Given the description of an element on the screen output the (x, y) to click on. 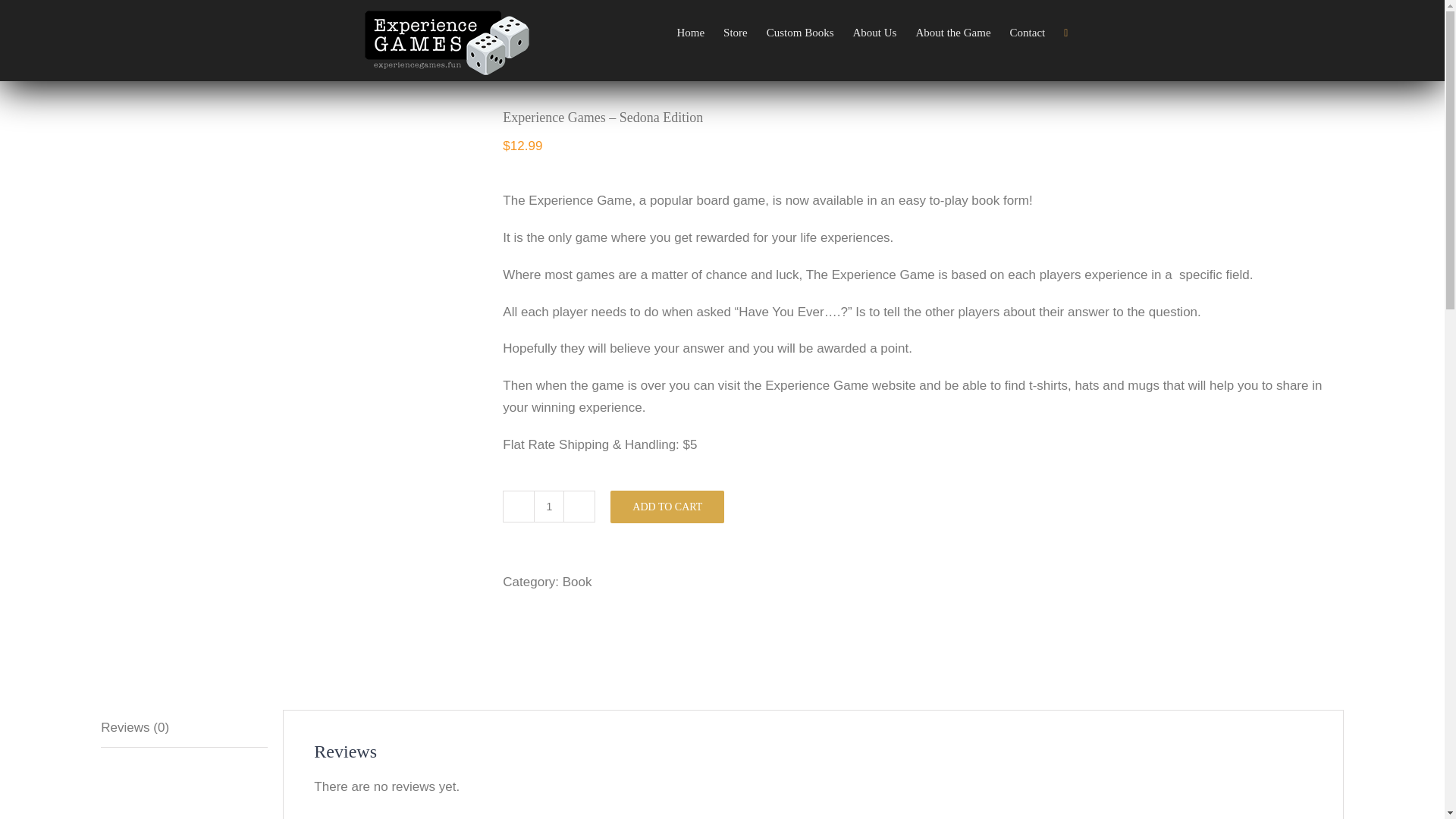
1 (549, 506)
About the Game (952, 31)
Custom Books (800, 31)
